Given the description of an element on the screen output the (x, y) to click on. 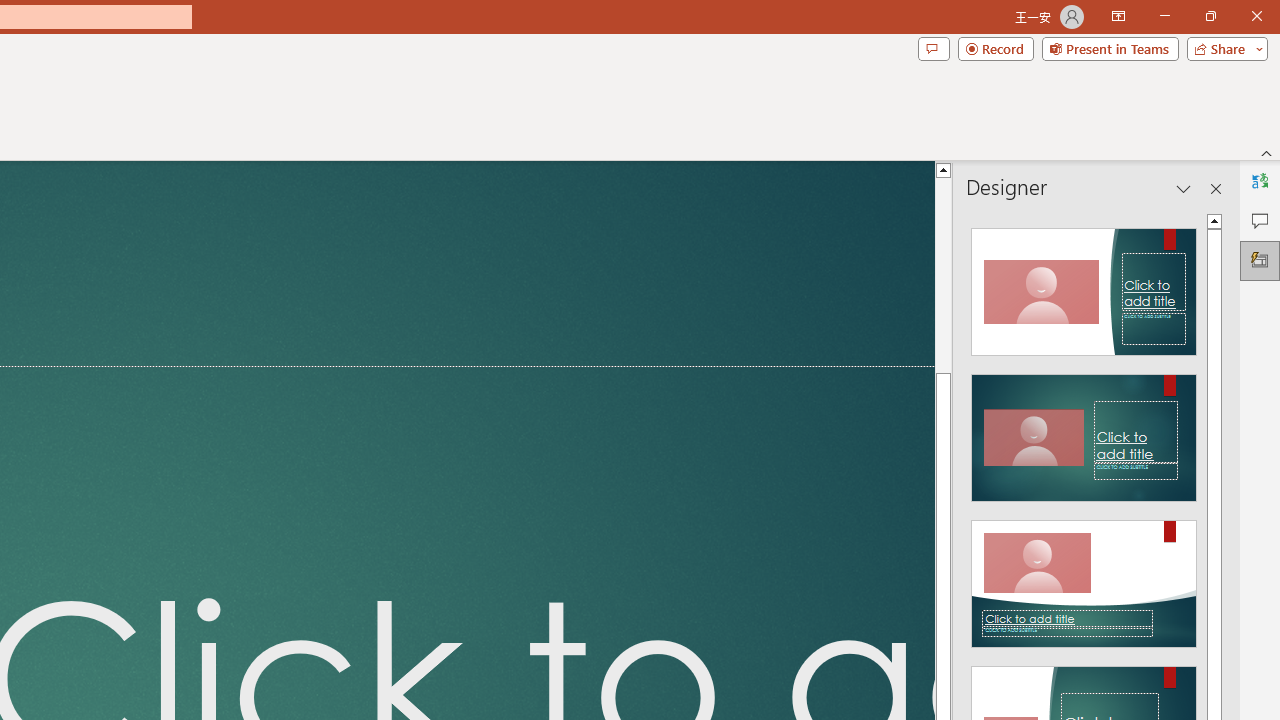
Designer (1260, 260)
Recommended Design: Design Idea (1083, 286)
Translator (1260, 180)
Design Idea (1083, 577)
Page up (943, 274)
